Given the description of an element on the screen output the (x, y) to click on. 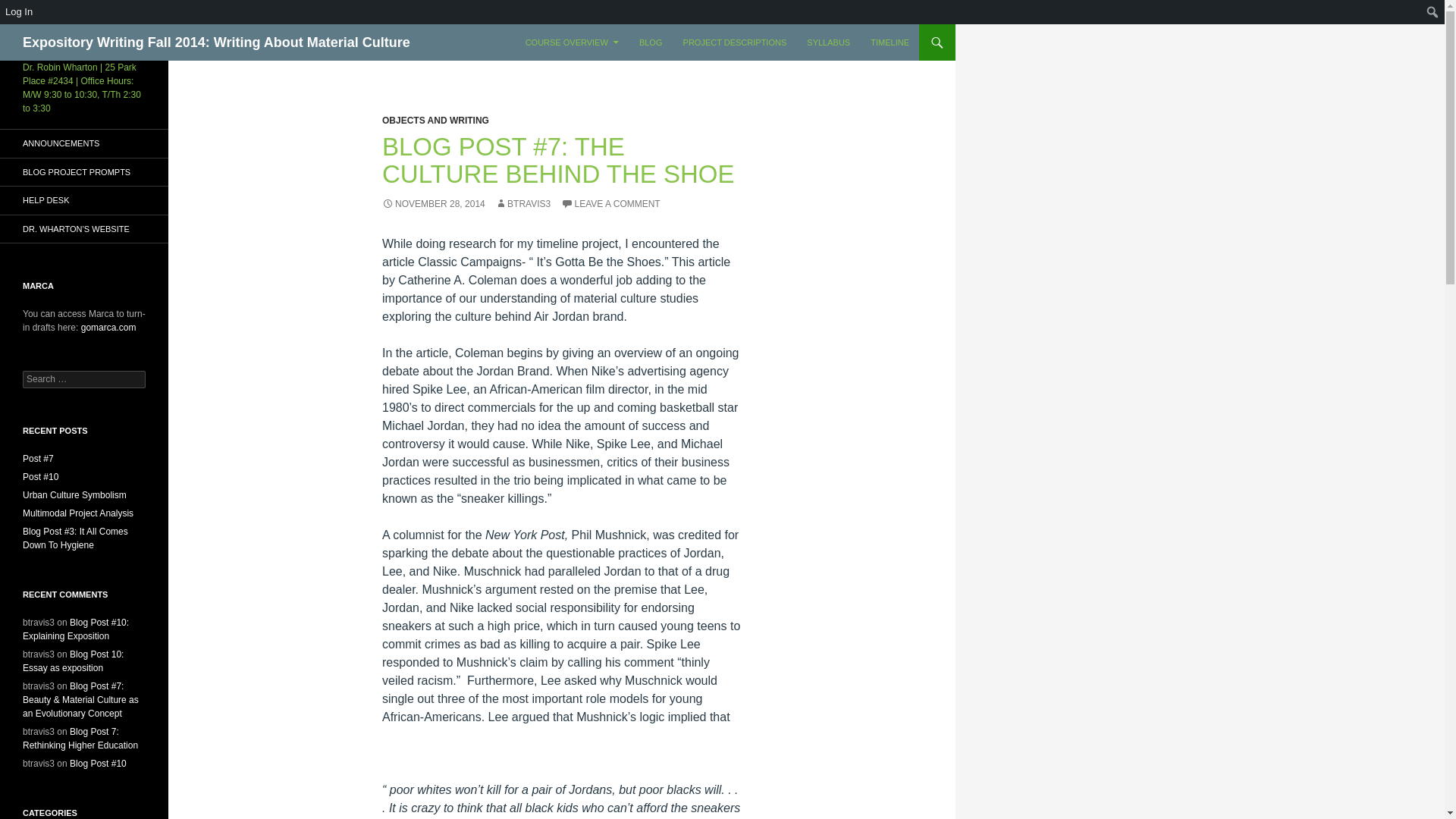
Multimodal Project Analysis (78, 512)
NOVEMBER 28, 2014 (432, 204)
Urban Culture Symbolism (74, 494)
Log In (19, 12)
ANNOUNCEMENTS (84, 143)
BLOG (650, 42)
Expository Writing Fall 2014: Writing About Material Culture (216, 42)
PROJECT DESCRIPTIONS (735, 42)
